Given the description of an element on the screen output the (x, y) to click on. 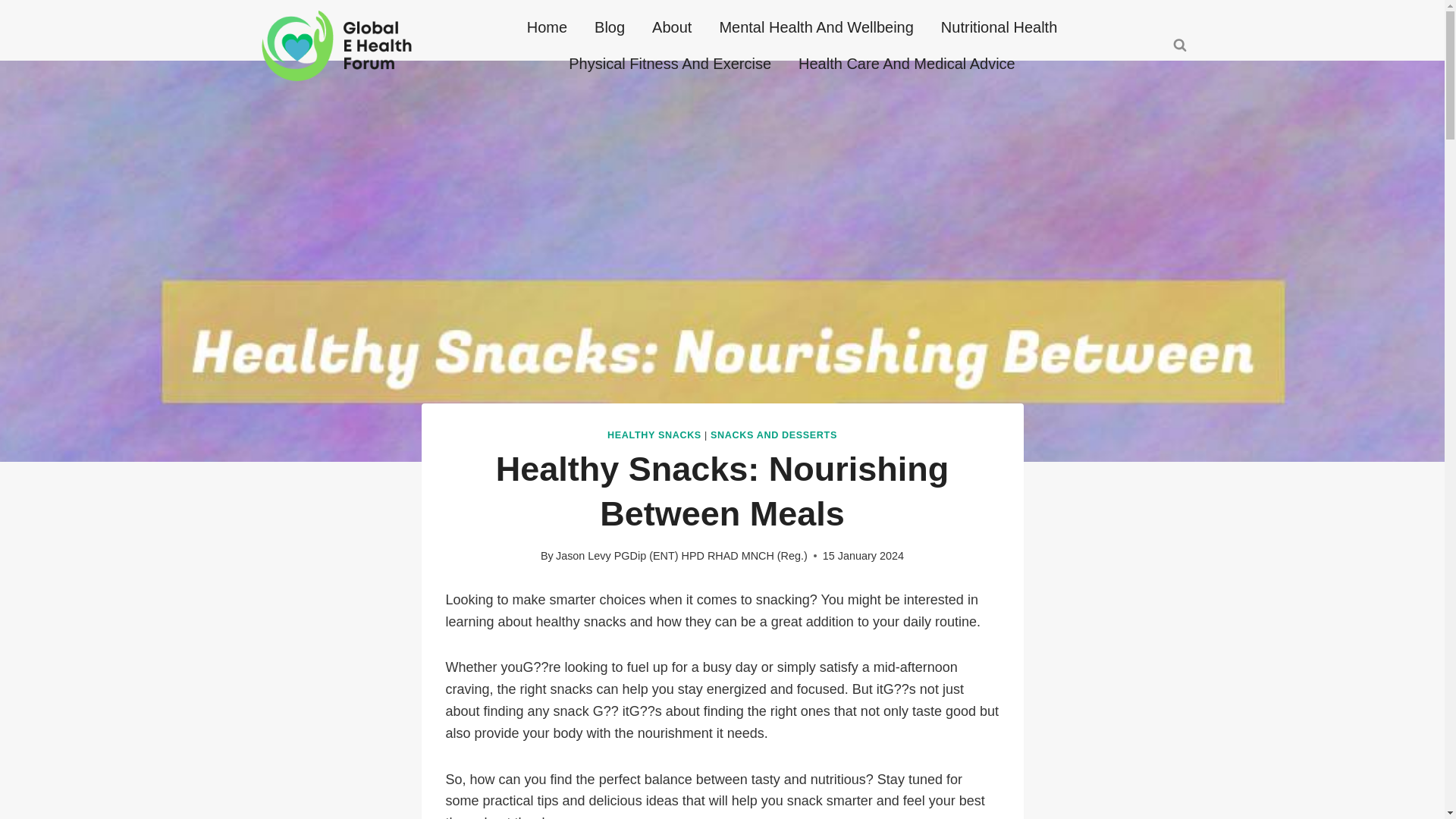
Physical Fitness And Exercise (669, 63)
SNACKS AND DESSERTS (773, 434)
Health Care And Medical Advice (906, 63)
Home (546, 27)
About (671, 27)
Nutritional Health (998, 27)
Mental Health And Wellbeing (815, 27)
Blog (609, 27)
HEALTHY SNACKS (654, 434)
